Given the description of an element on the screen output the (x, y) to click on. 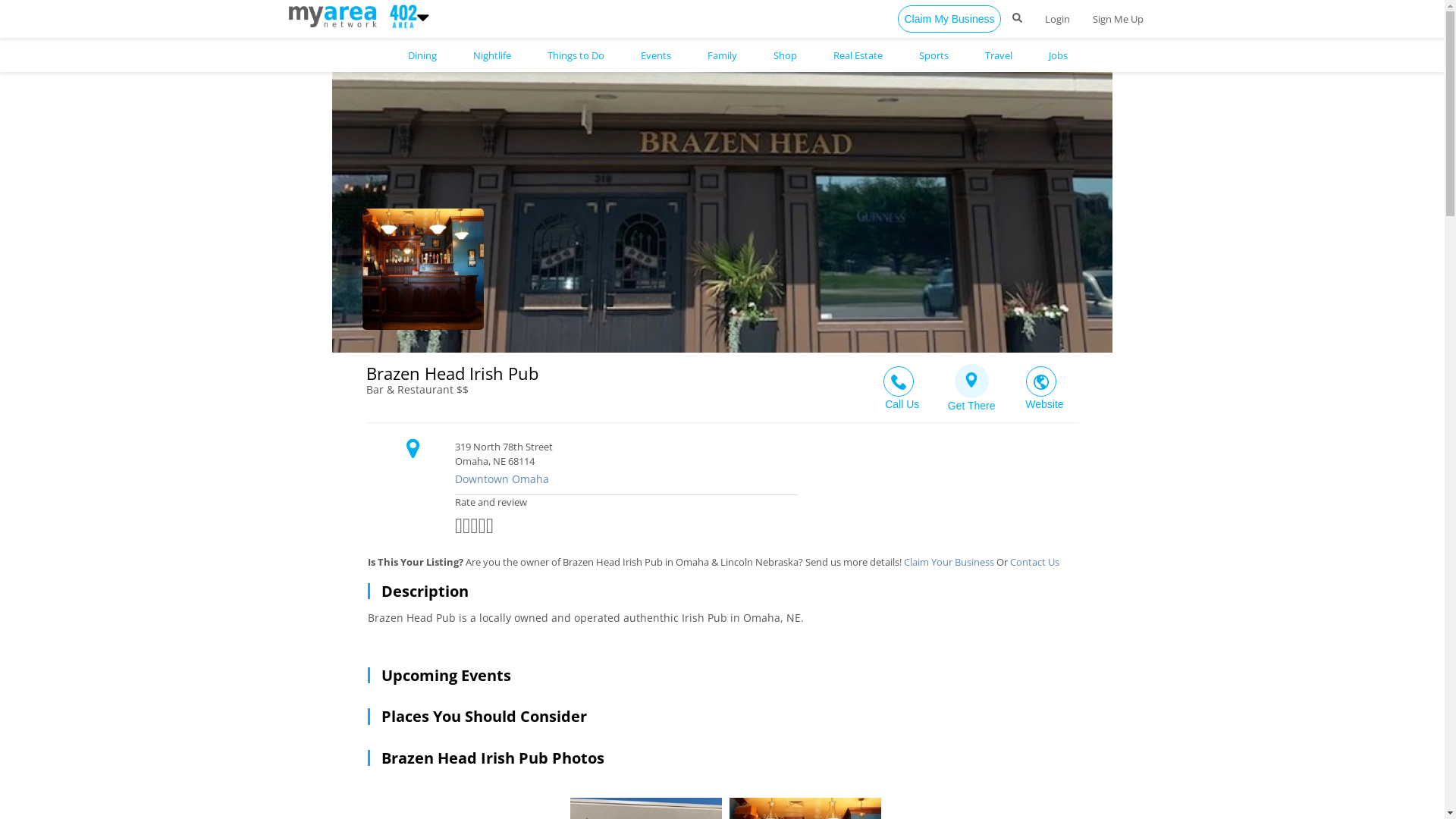
Sports Element type: text (933, 55)
Sign Me Up Element type: text (1117, 18)
Downtown Omaha Element type: text (756, 478)
Login Element type: text (1056, 18)
Dining Element type: text (422, 55)
Things to Do Element type: text (575, 55)
Call Us Element type: text (900, 382)
Family Element type: text (721, 55)
Events Element type: text (654, 55)
https://www.402area.com Element type: hover (335, 15)
Claim My Business Element type: text (948, 18)
https://www.402area.com Element type: hover (400, 15)
Shop Element type: text (784, 55)
Contact Us Element type: text (1034, 561)
Jobs Element type: text (1057, 55)
Website Element type: text (1043, 382)
Claim Your Business Element type: text (948, 561)
Real Estate Element type: text (857, 55)
Get There Element type: text (971, 382)
Nightlife Element type: text (491, 55)
Travel Element type: text (997, 55)
